Given the description of an element on the screen output the (x, y) to click on. 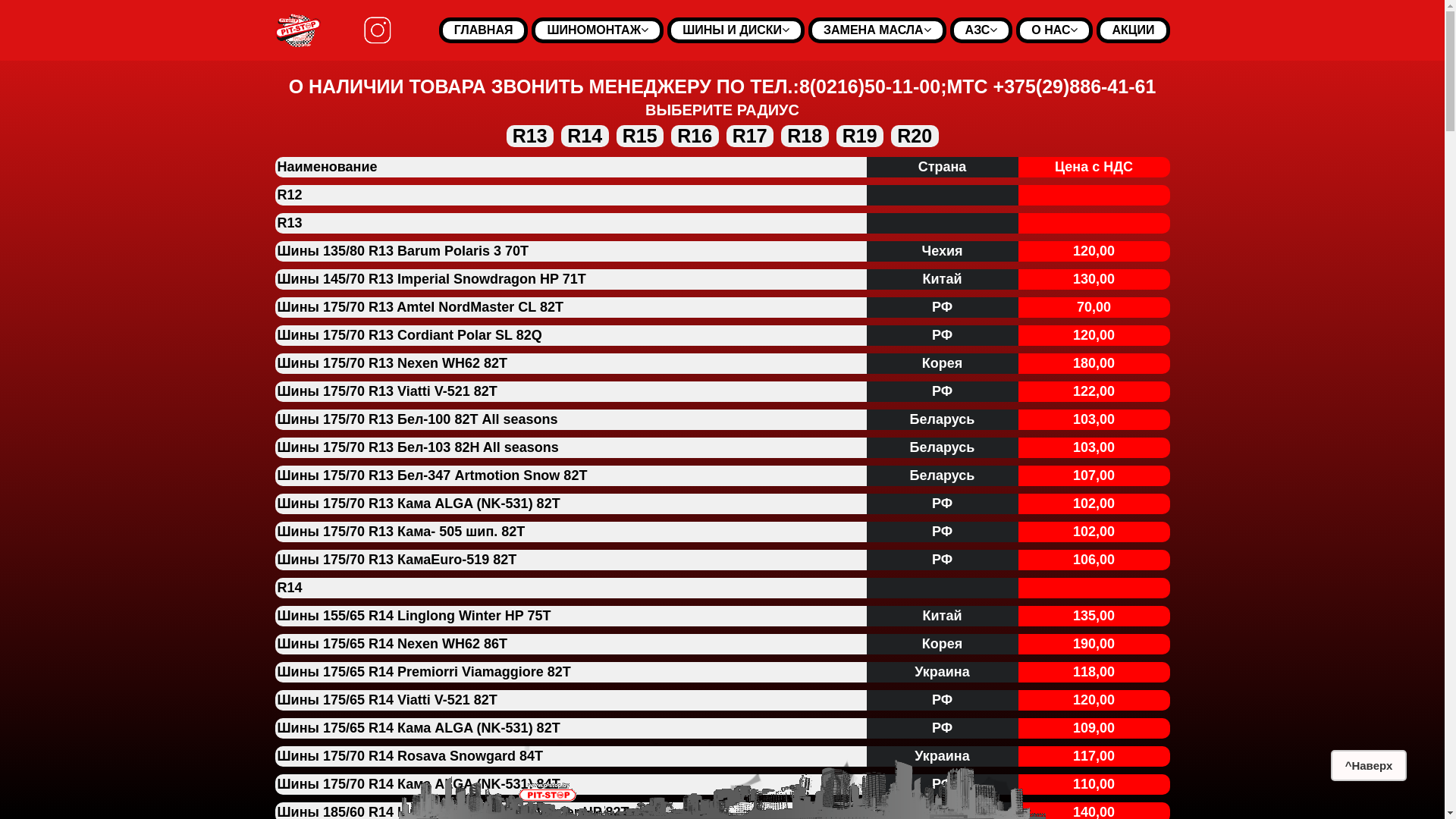
R20 Element type: text (914, 135)
R14 Element type: text (584, 135)
R13 Element type: text (289, 222)
R19 Element type: text (859, 135)
R16 Element type: text (694, 135)
R13 Element type: text (529, 135)
R14 Element type: text (289, 587)
R15 Element type: text (639, 135)
R17 Element type: text (749, 135)
R18 Element type: text (804, 135)
